Given the description of an element on the screen output the (x, y) to click on. 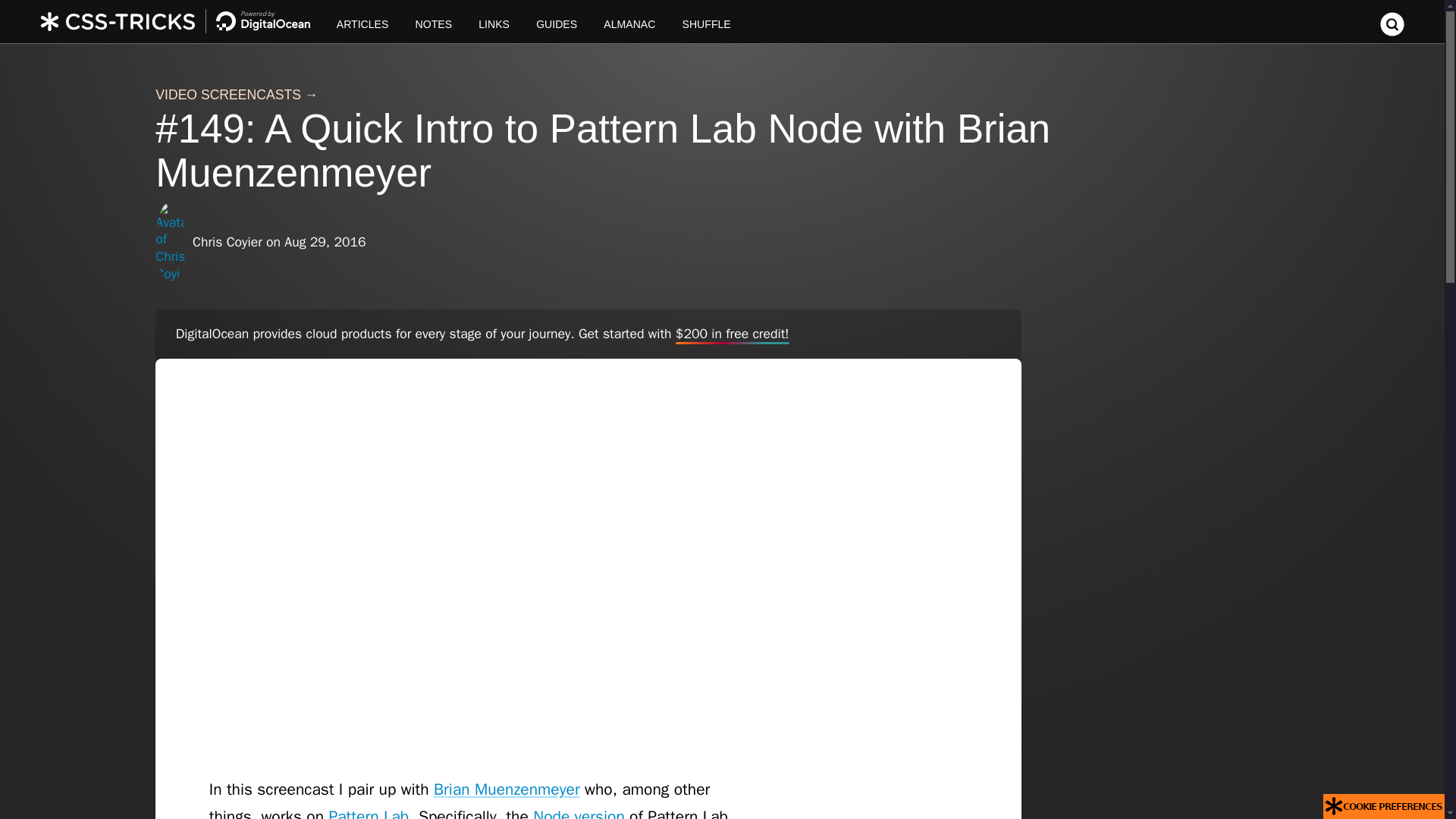
Search (1392, 31)
ALMANAC (629, 21)
ARTICLES (362, 21)
GUIDES (556, 21)
NOTES (433, 21)
CSS-Tricks (181, 21)
SHUFFLE (706, 21)
Chris Coyier (229, 241)
Node version (578, 812)
Brian Muenzenmeyer (506, 789)
VIDEO SCREENCASTS (228, 94)
LINKS (493, 21)
Pattern Lab (369, 812)
Go to Video Screencasts. (228, 94)
